Given the description of an element on the screen output the (x, y) to click on. 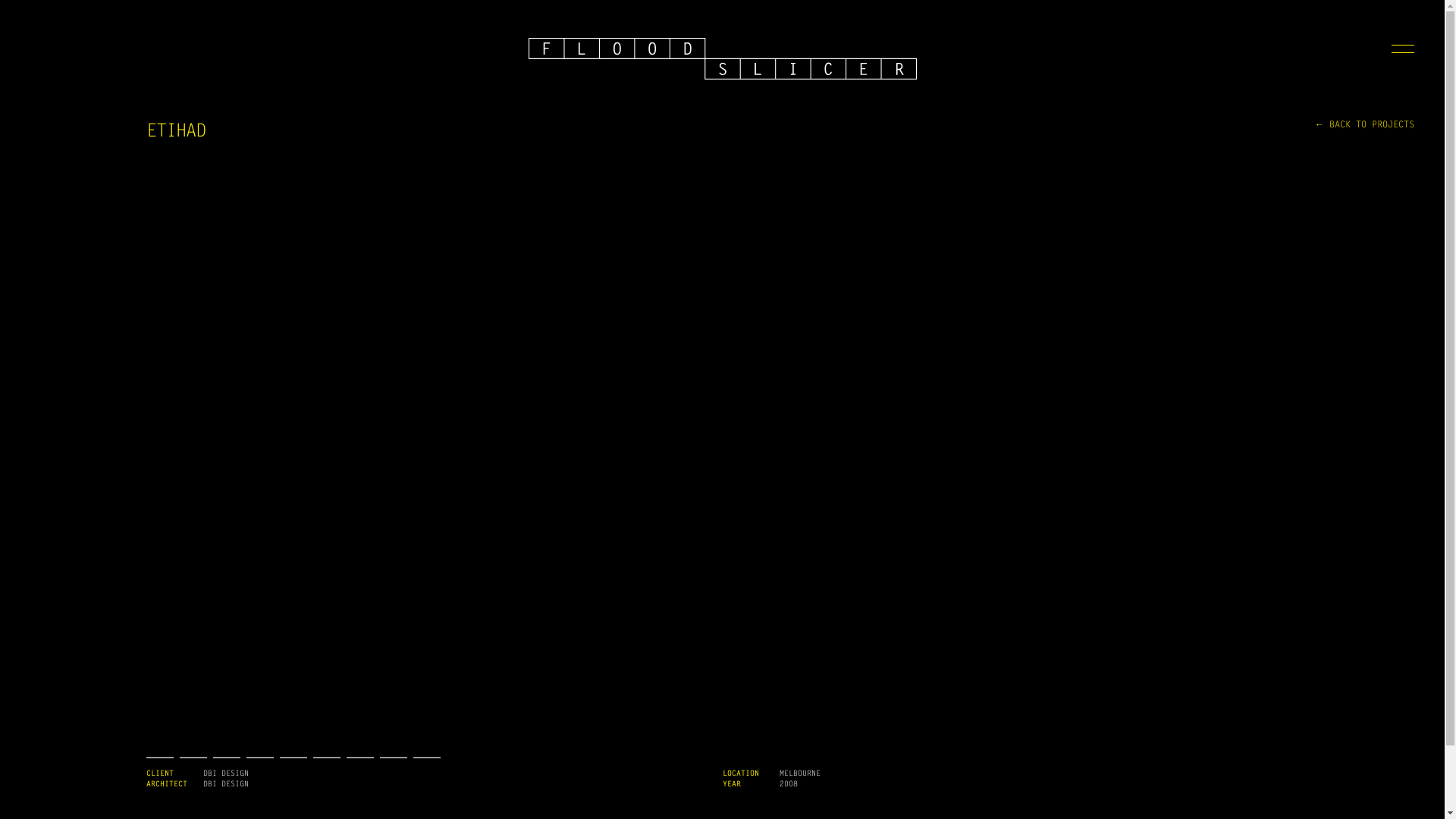
FACEBOOK Element type: text (745, 768)
View Slide 8 Element type: text (392, 757)
View Slide 9 Element type: text (425, 757)
View Slide 3 Element type: text (225, 757)
View Slide 7 Element type: text (359, 757)
INSTAGRAM Element type: text (710, 768)
View Slide 1 Element type: text (158, 757)
View Slide 2 Element type: text (192, 757)
View Slide 6 Element type: text (325, 757)
View Slide 4 Element type: text (259, 757)
View Slide 5 Element type: text (292, 757)
